Given the description of an element on the screen output the (x, y) to click on. 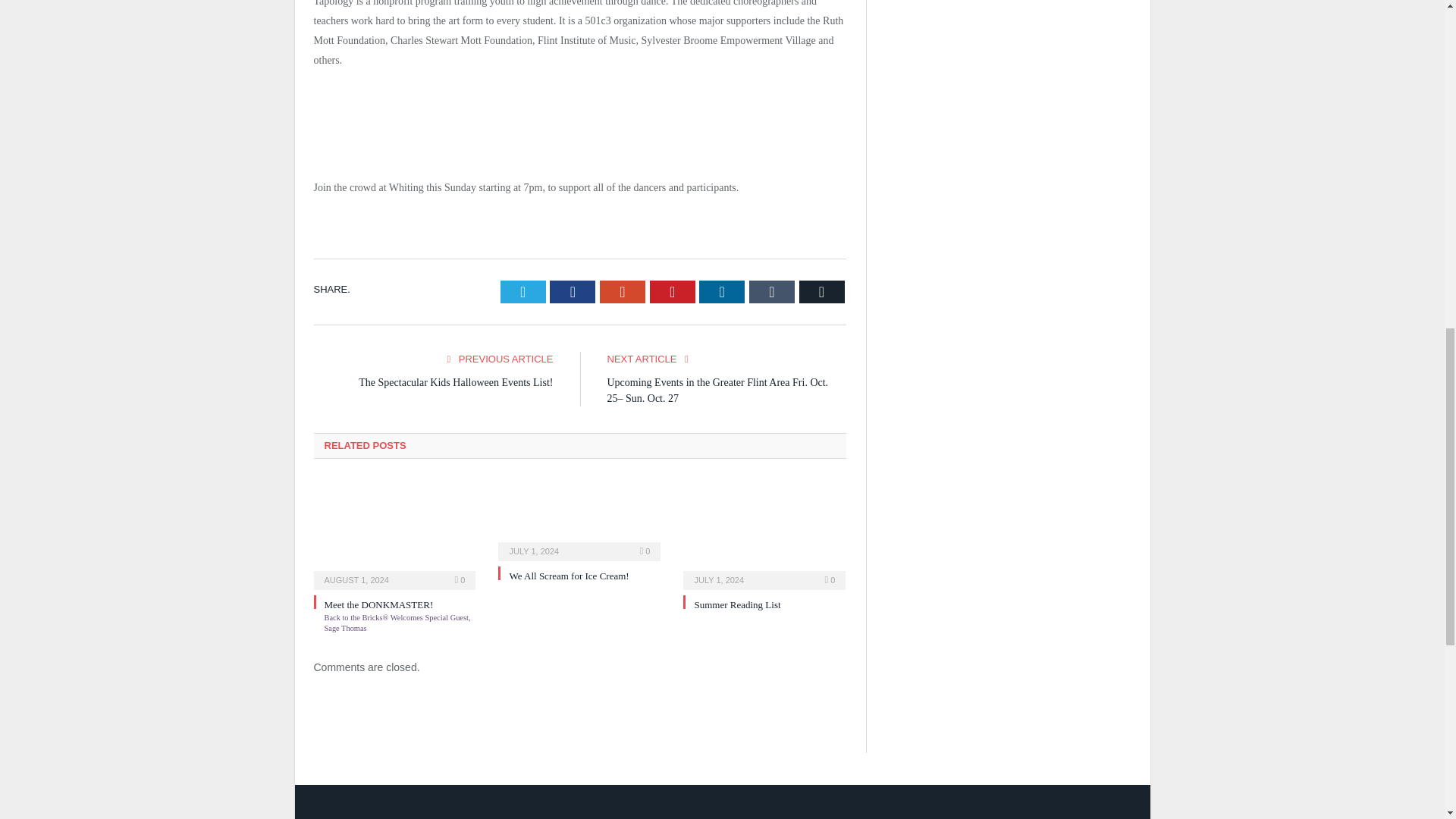
We All Scream for Ice Cream! (568, 575)
We All Scream for Ice Cream! (579, 518)
Summer Reading List (737, 604)
Summer Reading List (763, 532)
